Given the description of an element on the screen output the (x, y) to click on. 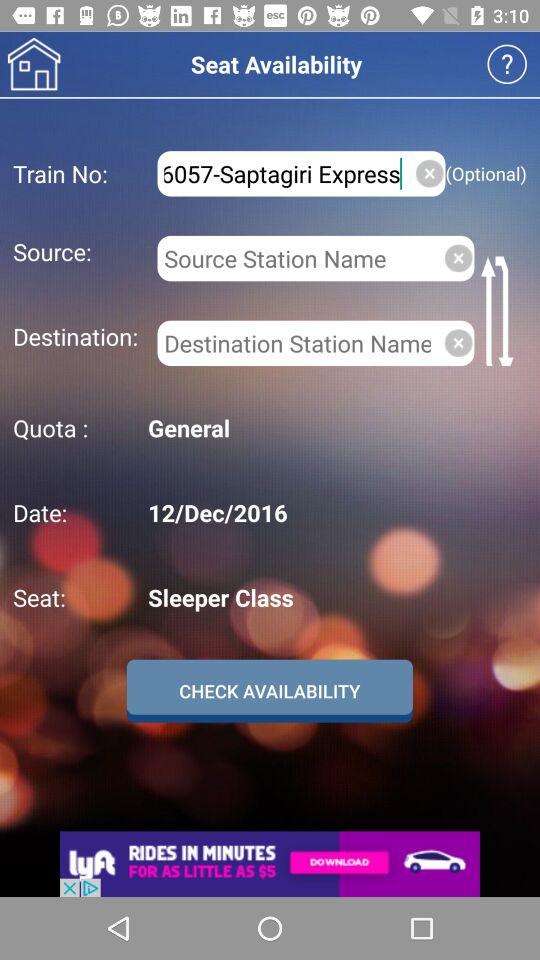
close (429, 173)
